Given the description of an element on the screen output the (x, y) to click on. 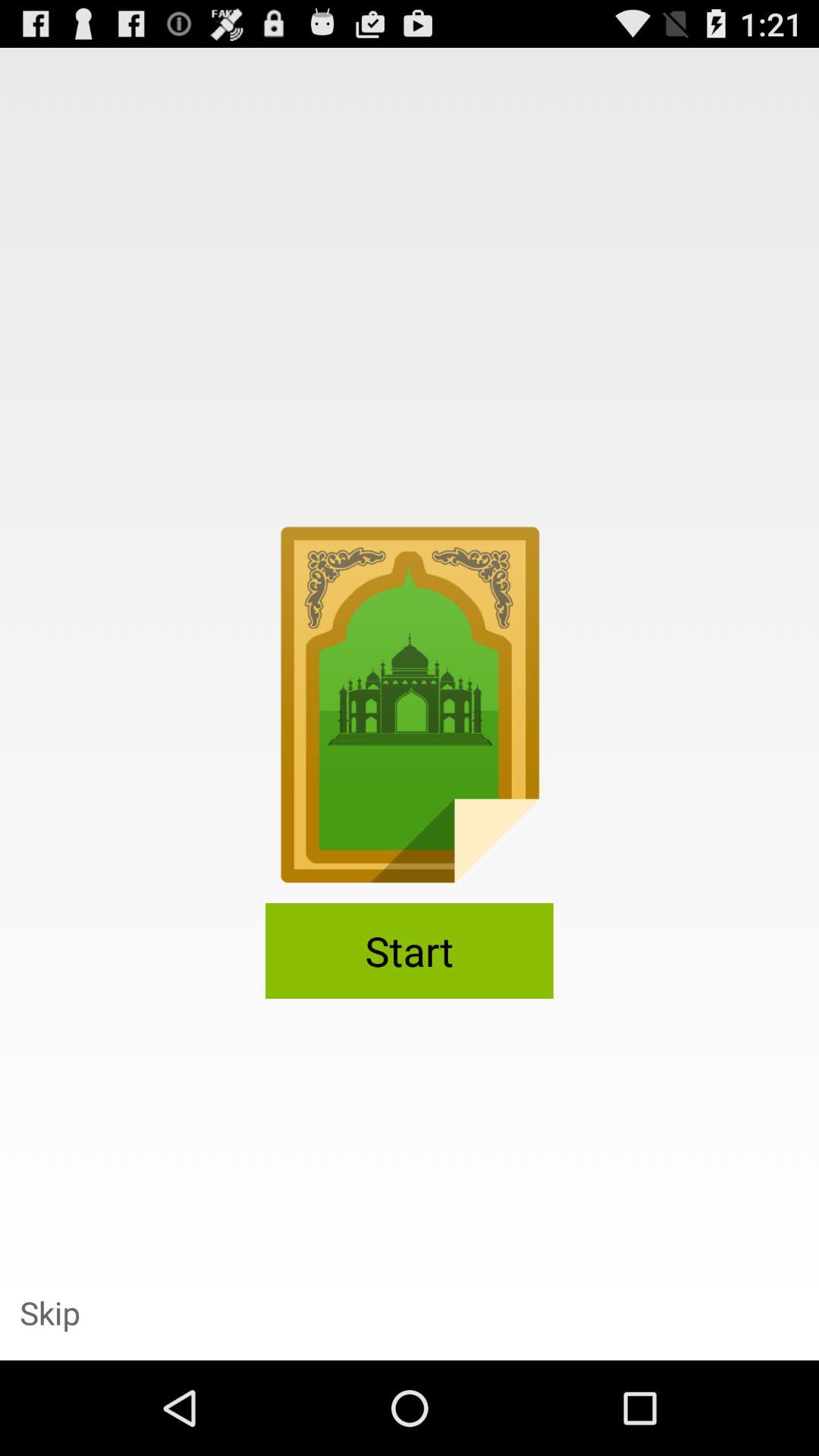
choose the icon at the bottom left corner (50, 1312)
